Given the description of an element on the screen output the (x, y) to click on. 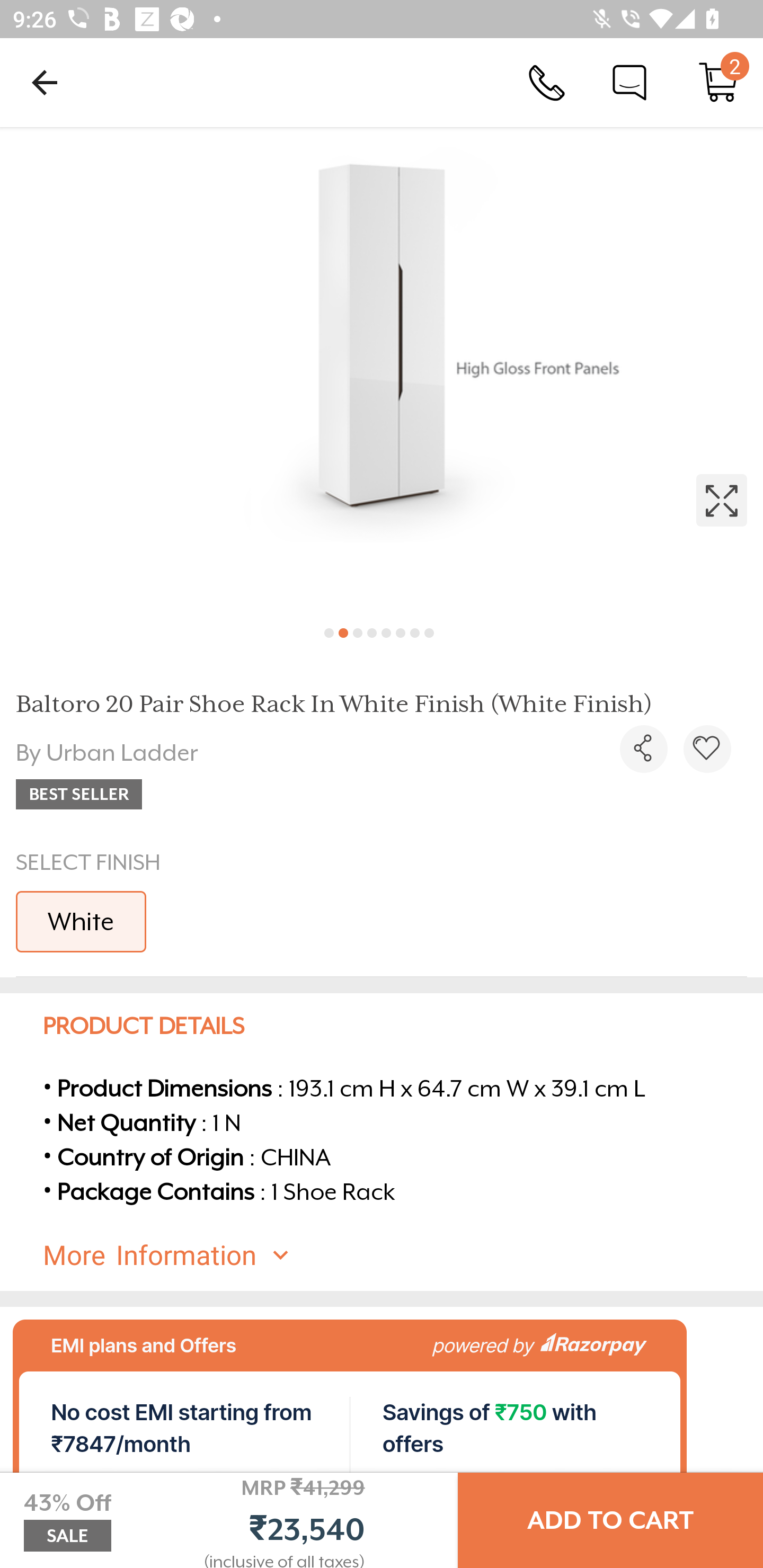
Navigate up (44, 82)
Call Us (546, 81)
Chat (629, 81)
Cart (718, 81)
 (381, 370)
 (643, 748)
 (706, 748)
White (81, 920)
More Information  (396, 1255)
ADD TO CART (610, 1520)
